Given the description of an element on the screen output the (x, y) to click on. 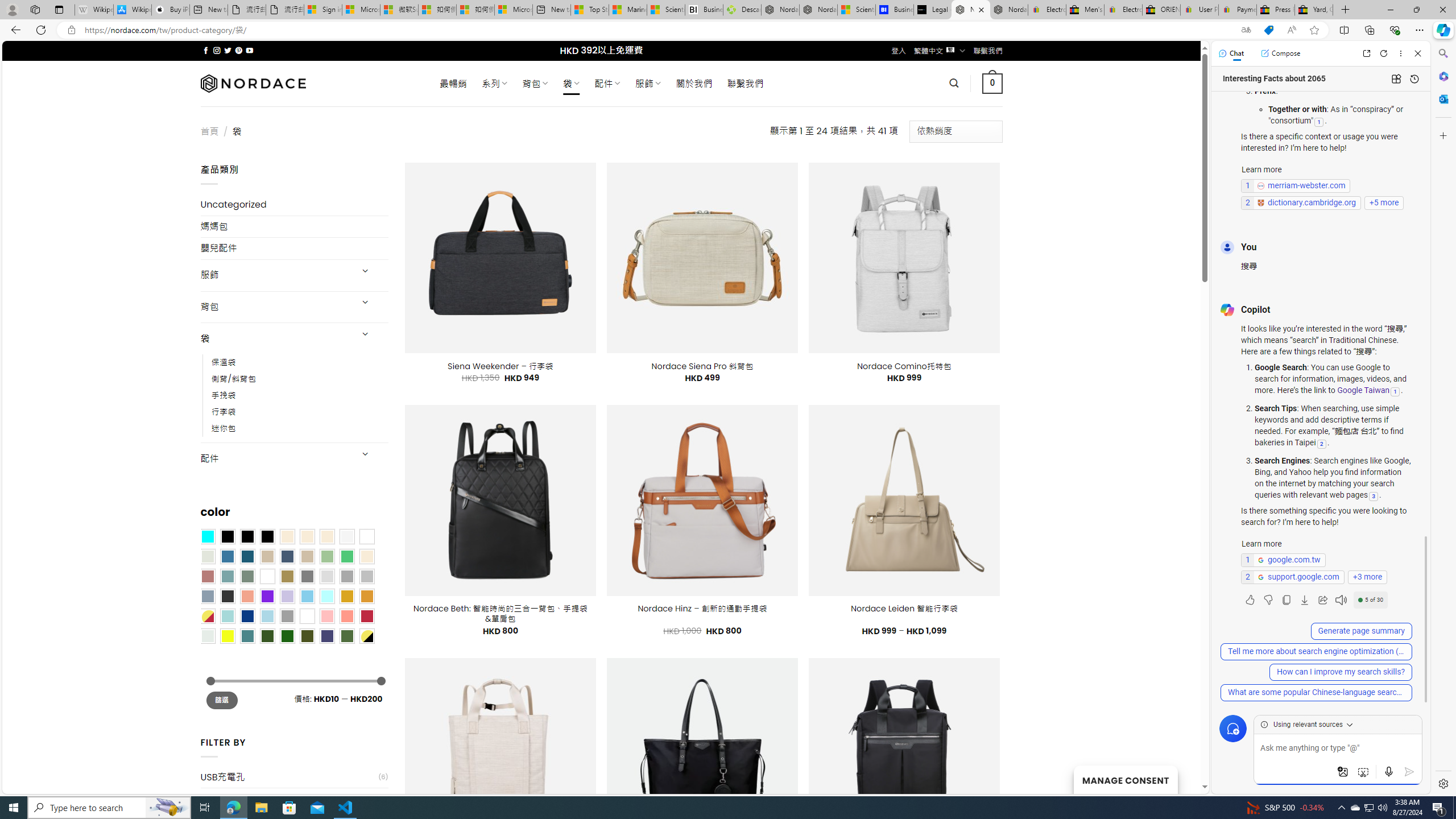
Compose (1280, 52)
Marine life - MSN (628, 9)
